Given the description of an element on the screen output the (x, y) to click on. 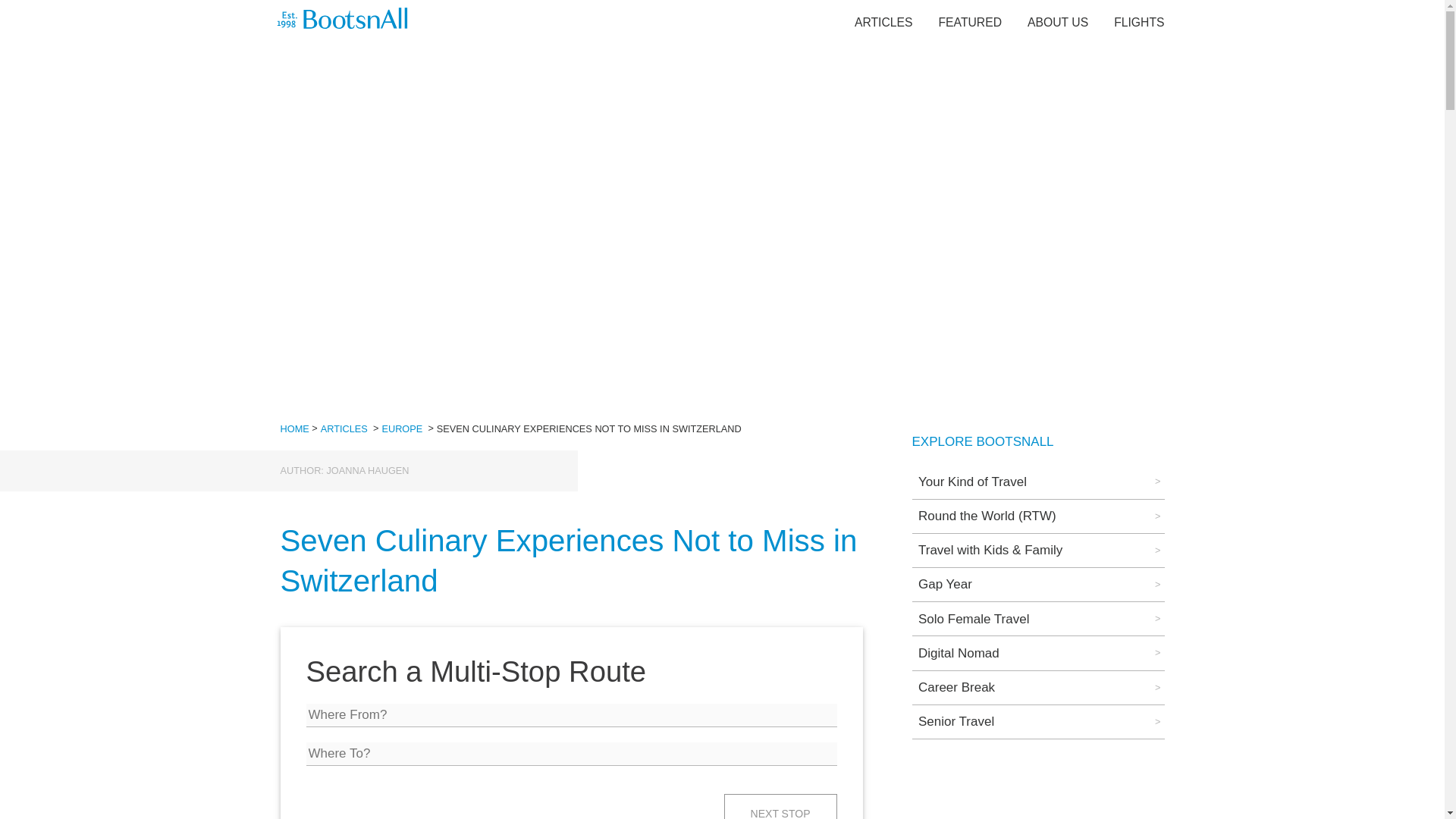
ARTICLES (344, 428)
EUROPE (401, 428)
Your Kind of Travel (1037, 481)
ARTICLES (883, 21)
NEXT STOP (780, 806)
Gap Year (1037, 584)
FEATURED (971, 21)
ABOUT US (1057, 21)
HOME (294, 428)
FLIGHTS (1138, 21)
Solo Female Travel (1037, 618)
Digital Nomad (1037, 652)
Career Break (1037, 686)
Senior Travel (1037, 721)
